Given the description of an element on the screen output the (x, y) to click on. 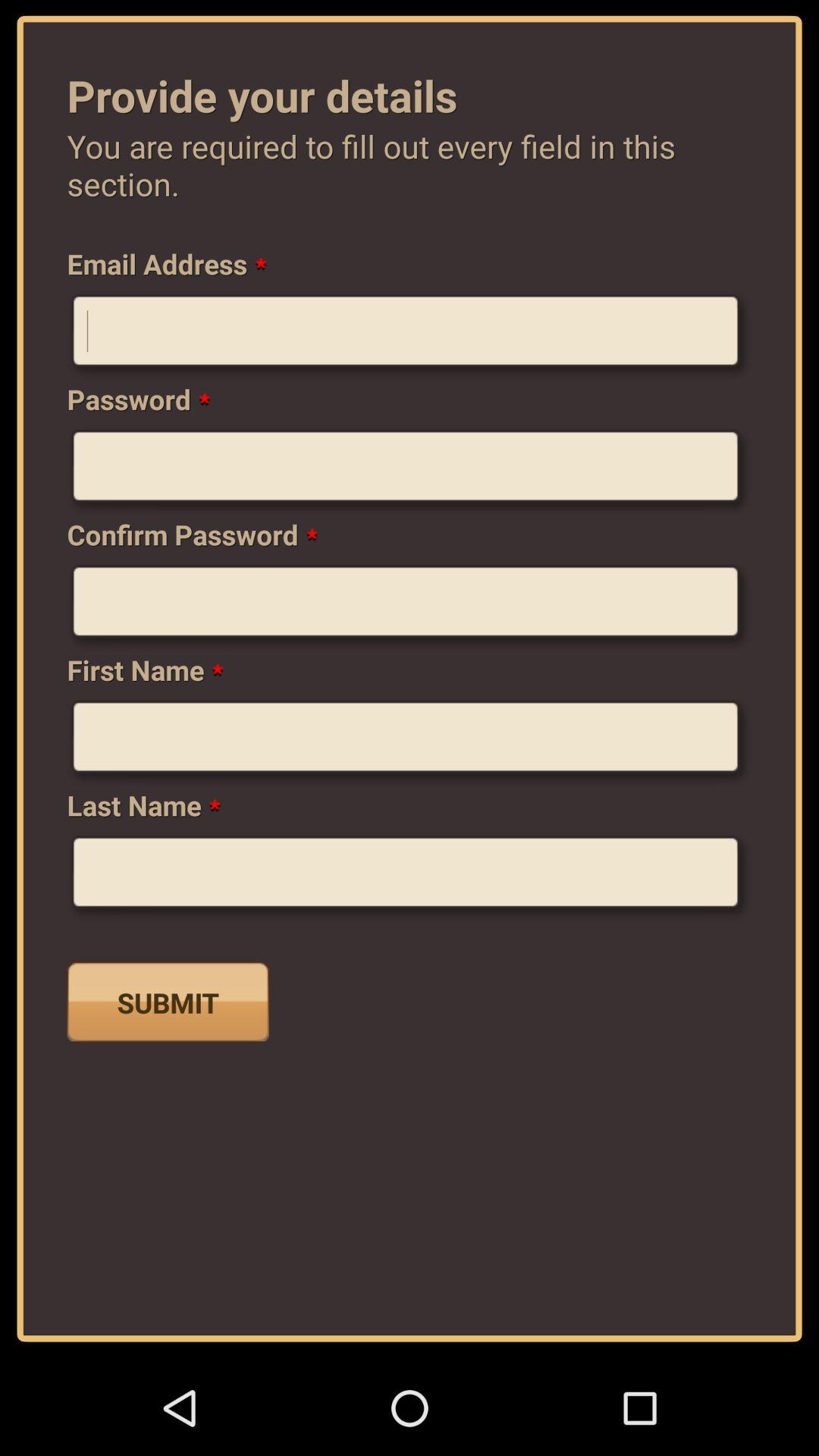
password confirmation text box (409, 607)
